Given the description of an element on the screen output the (x, y) to click on. 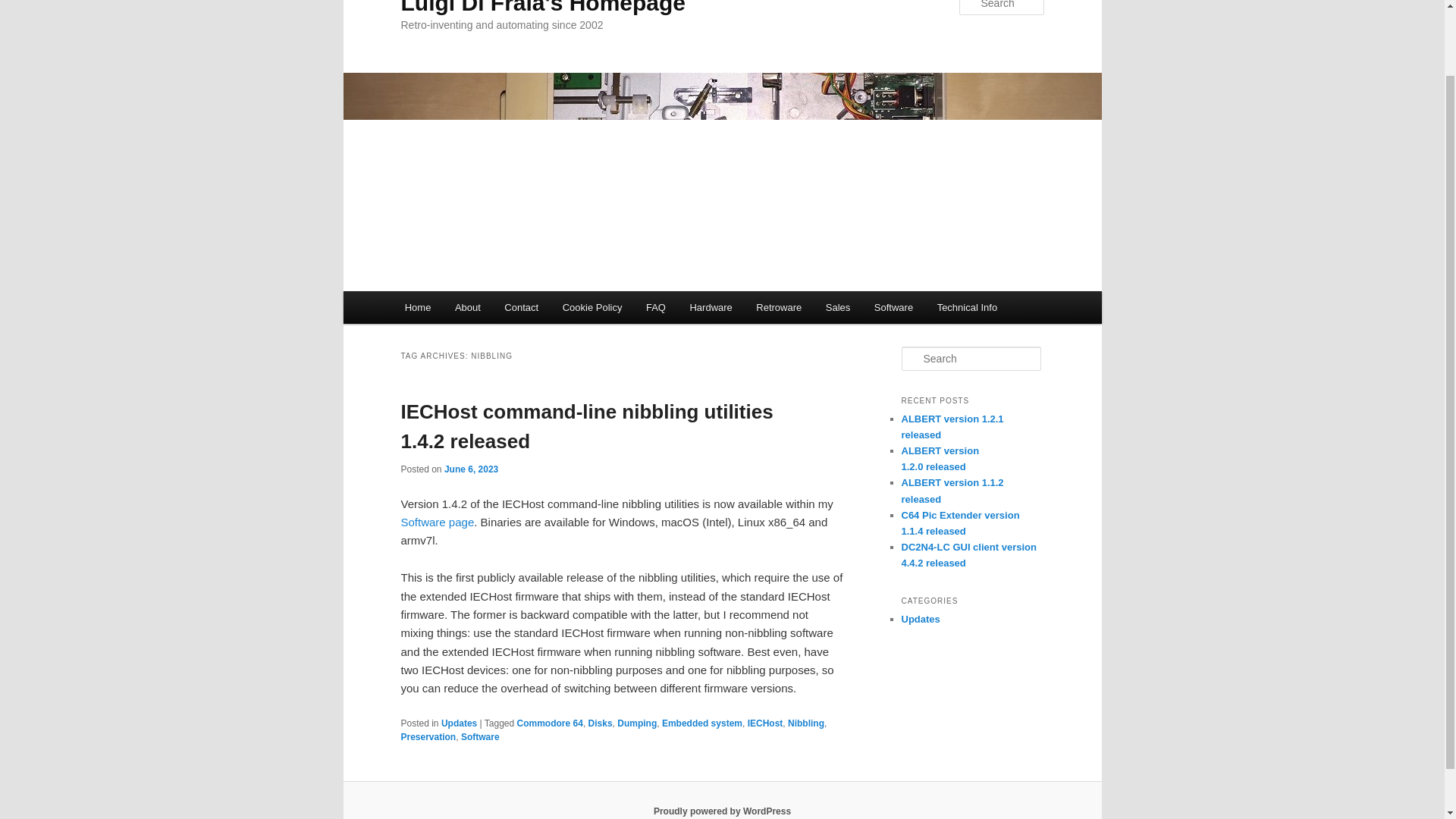
Updates (459, 723)
ALBERT version 1.2.0 released (939, 458)
Disks (600, 723)
7:48 am (470, 469)
FAQ (655, 307)
Luigi Di Fraia's Homepage (542, 7)
Embedded system (702, 723)
Proudly powered by WordPress (721, 810)
Cookie Policy (591, 307)
Commodore 64 (549, 723)
